Given the description of an element on the screen output the (x, y) to click on. 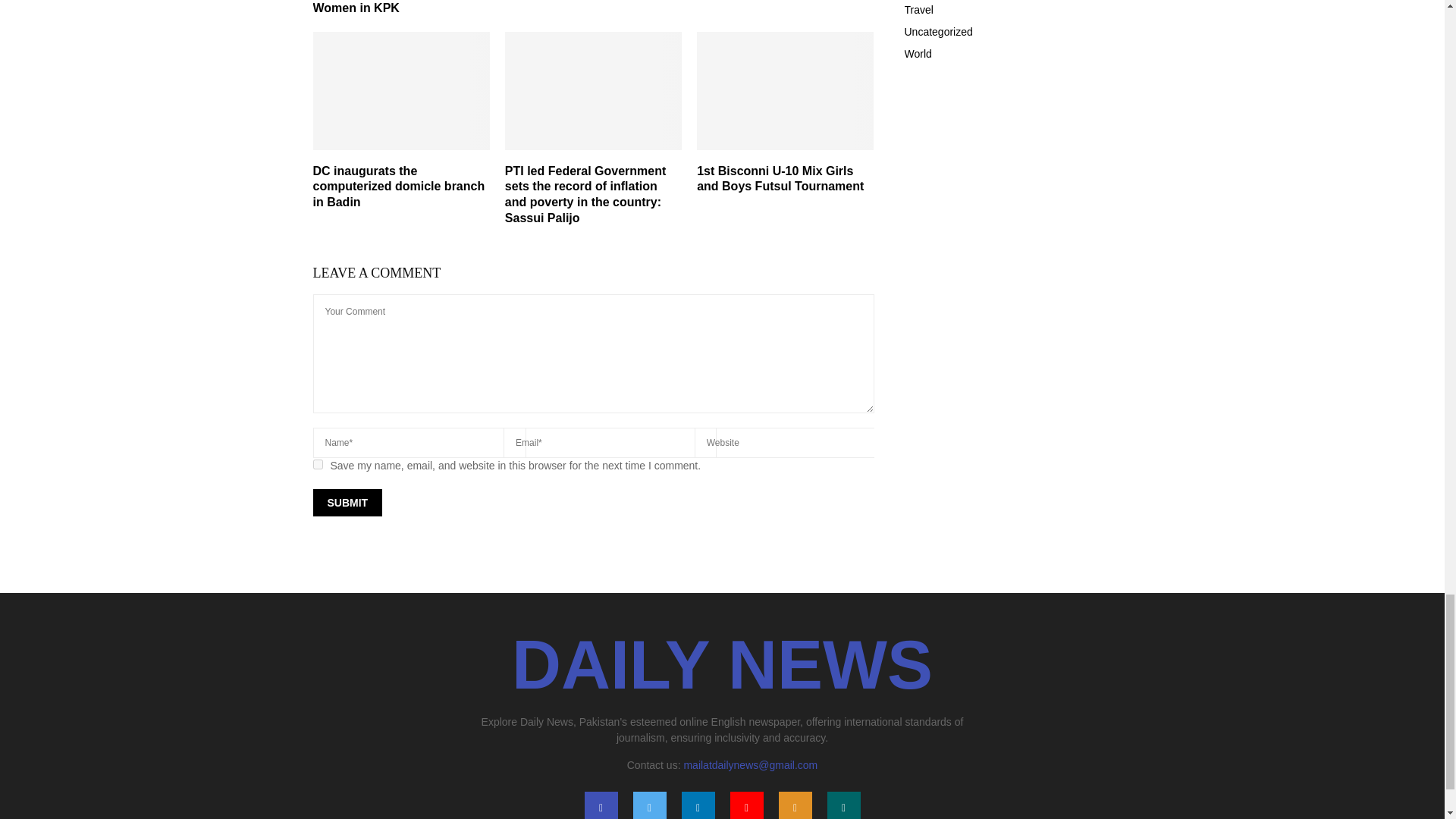
Submit (347, 502)
yes (317, 464)
